Given the description of an element on the screen output the (x, y) to click on. 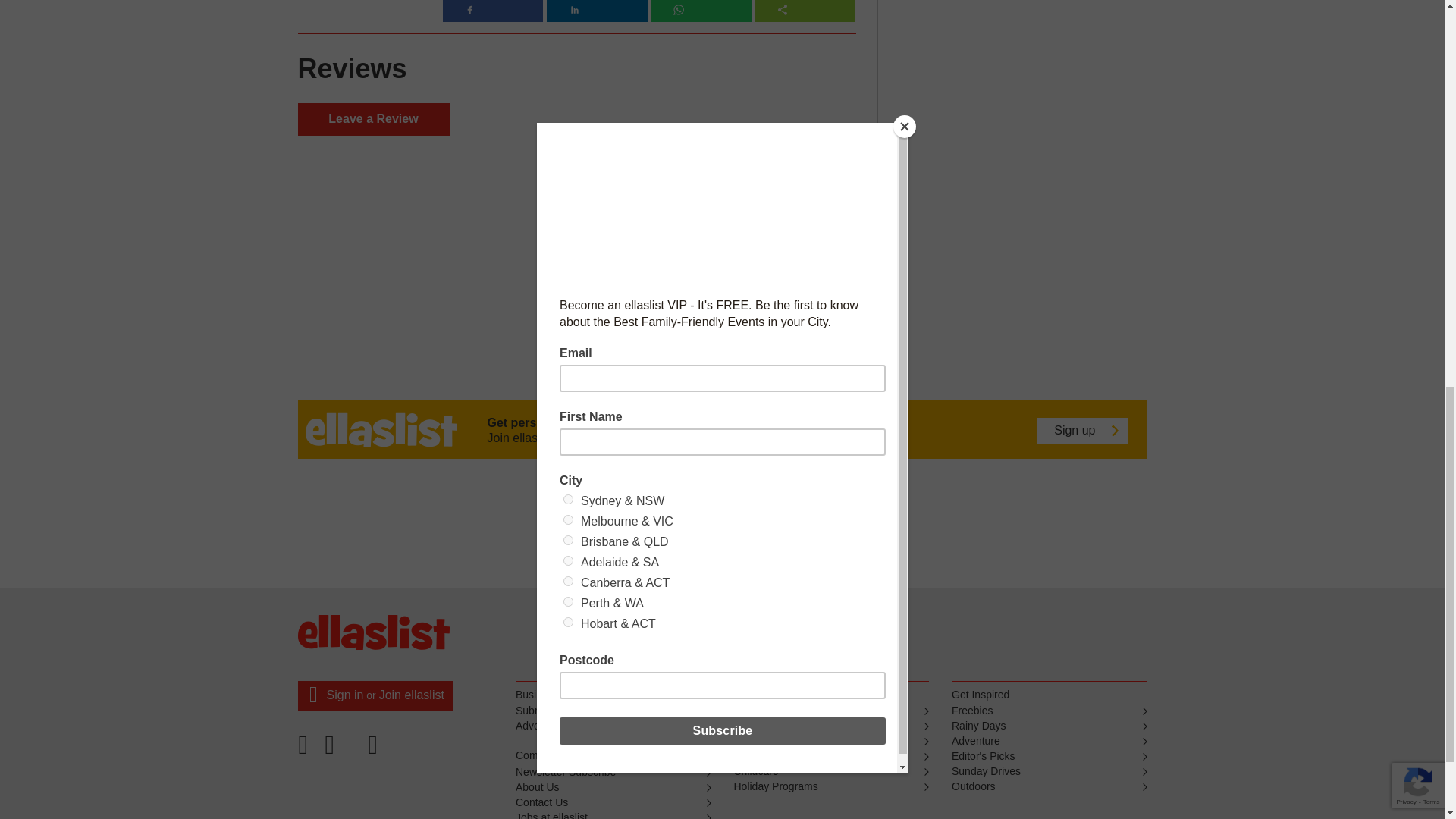
Kids Eats (831, 756)
Join ellaslist (411, 694)
Submit an Event (613, 711)
Sign in (344, 694)
Facebook (306, 749)
Pinterest (341, 749)
Advertise (613, 726)
Kids Classes (831, 726)
Jobs at ellaslist (613, 814)
Fitness (831, 741)
Newsletter Subscribe (613, 772)
Leave a Review (372, 119)
Instagram (375, 749)
About Us (613, 787)
